Given the description of an element on the screen output the (x, y) to click on. 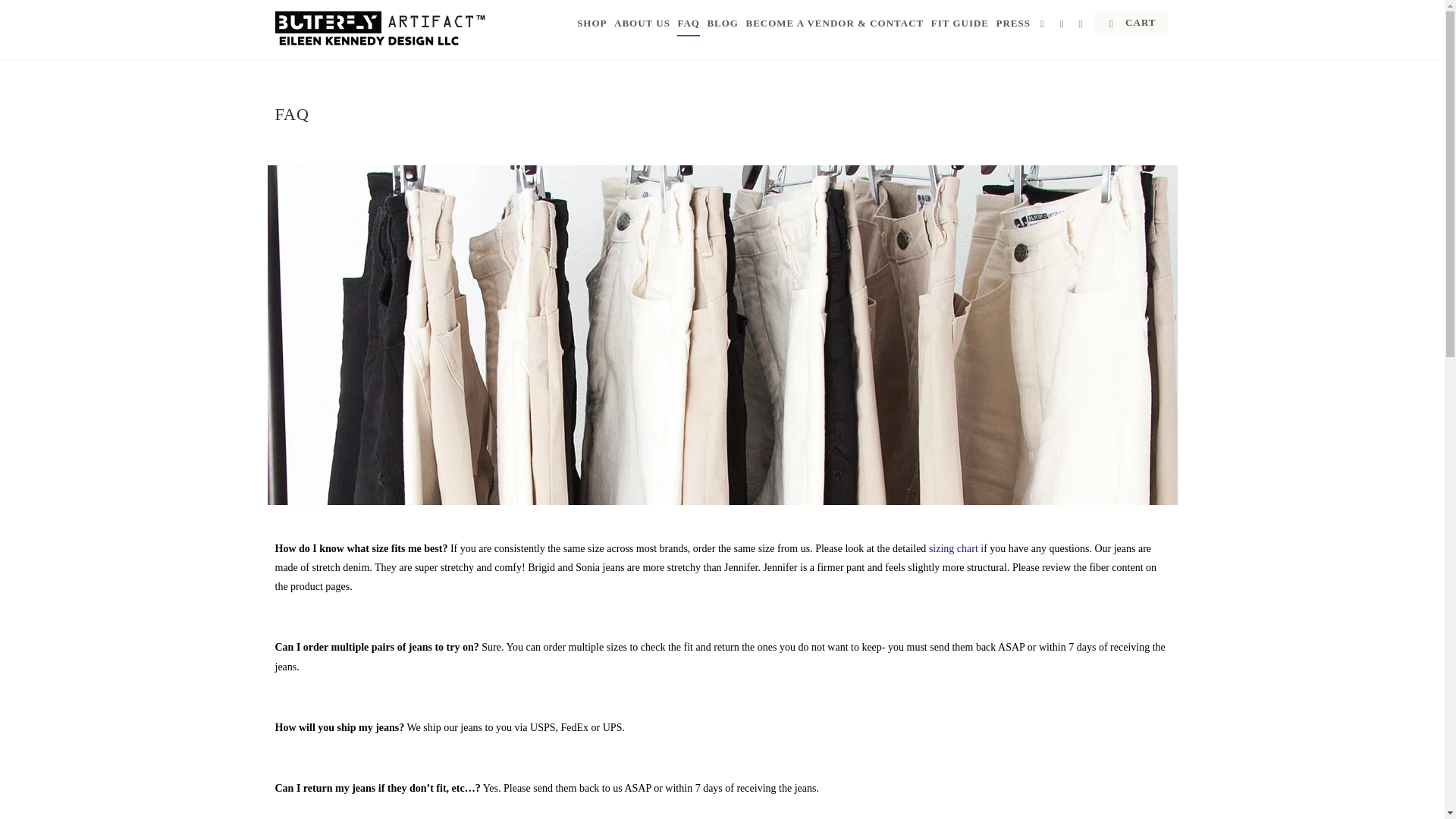
BLOG (722, 26)
Eileen Kennedy Design, LLC (380, 29)
CART (1130, 23)
sizing chart i (956, 548)
FIT GUIDE (959, 26)
FAQ (687, 26)
PRESS (1012, 26)
ABOUT US (641, 26)
SHOP (591, 26)
2020 Sizing Chart (956, 548)
